Given the description of an element on the screen output the (x, y) to click on. 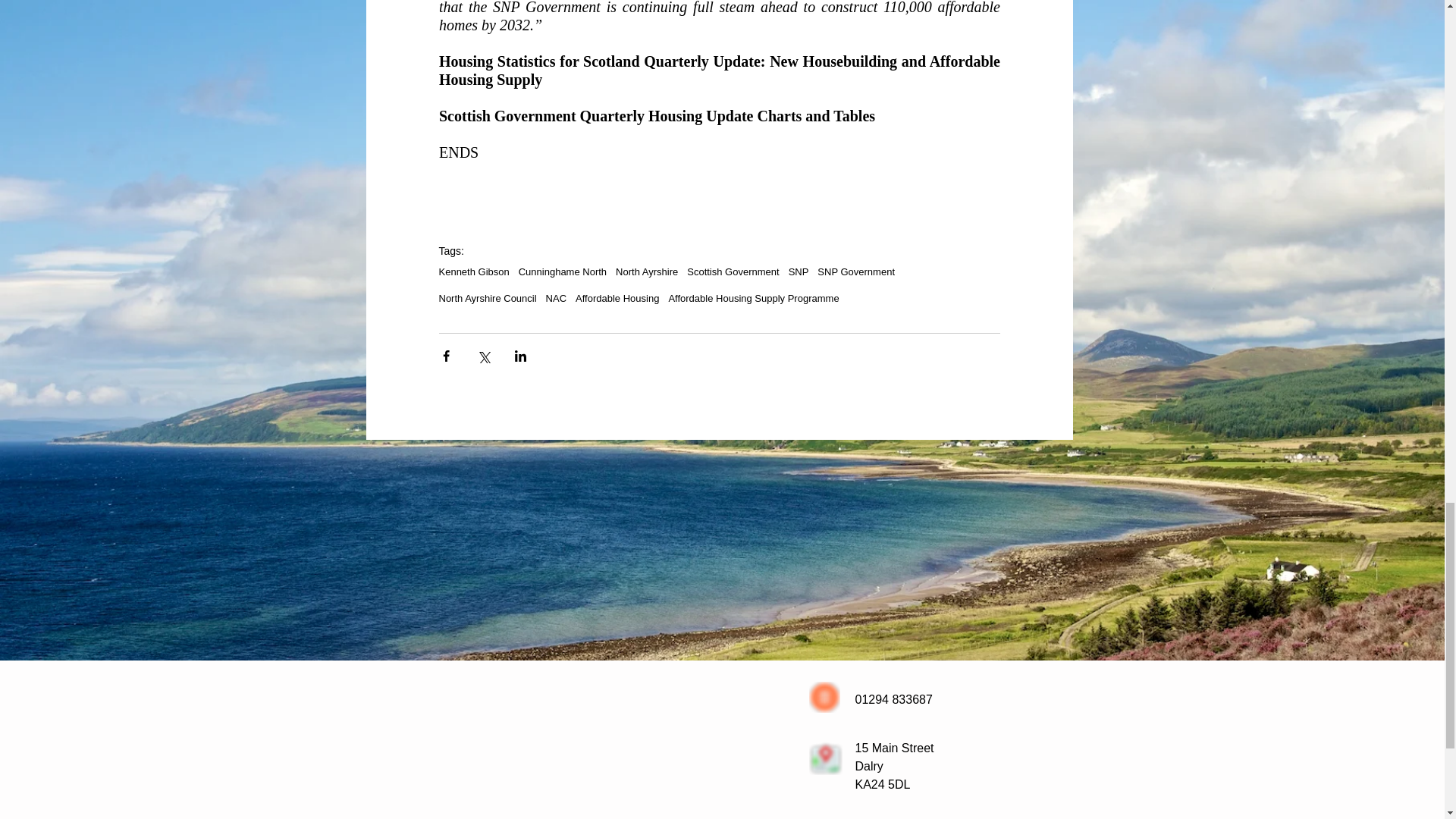
North Ayrshire Council (486, 297)
Affordable Housing Supply Programme (753, 297)
Scottish Government (732, 271)
NAC (556, 297)
North Ayrshire (646, 271)
Cunninghame North (562, 271)
SNP (799, 271)
SNP Government (855, 271)
Affordable Housing (617, 297)
01294 833687 (894, 698)
